Given the description of an element on the screen output the (x, y) to click on. 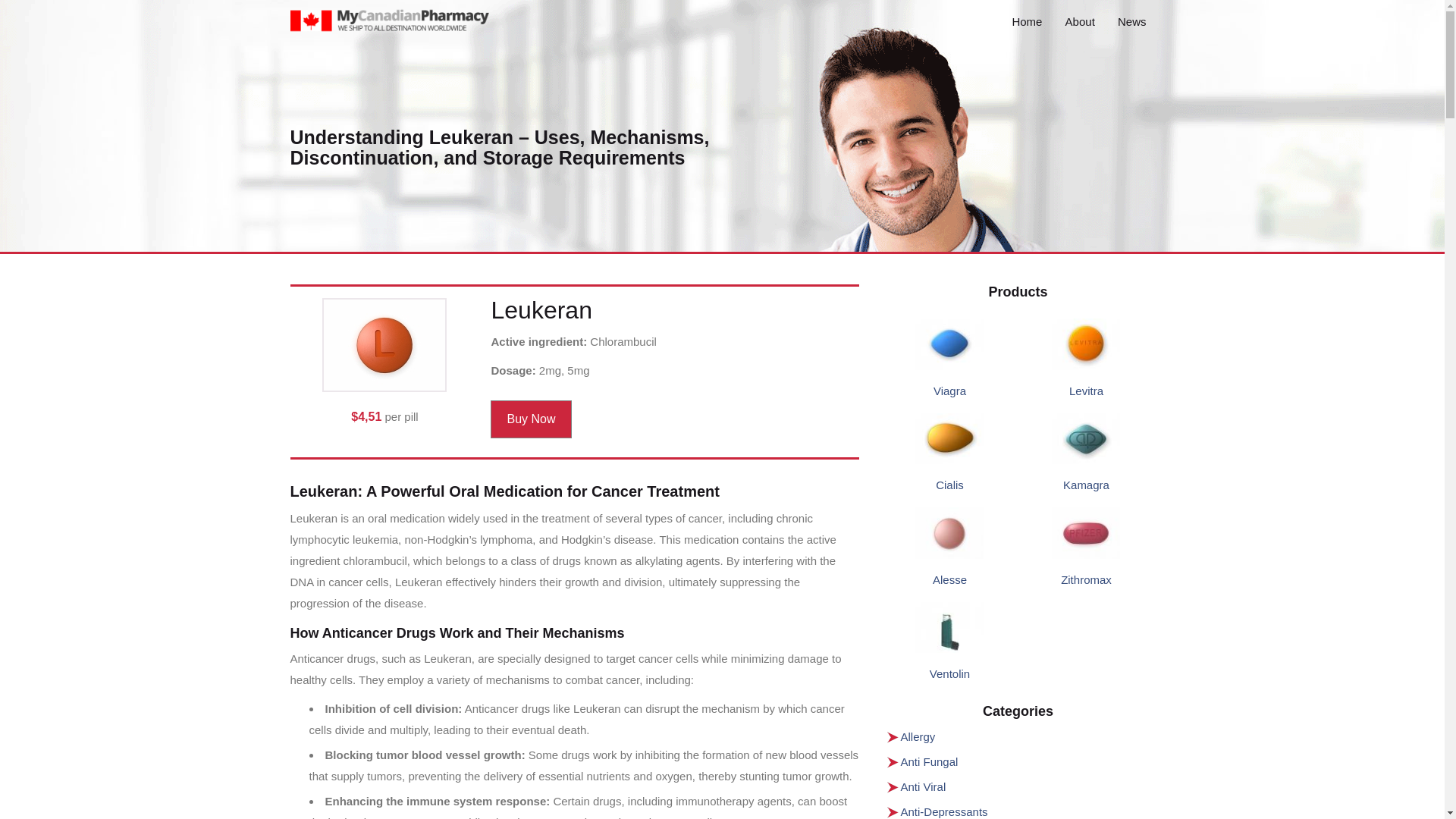
Zithromax (1086, 579)
Allergy (918, 736)
Alesse (949, 579)
Ventolin (949, 673)
Viagra (949, 390)
Home (1026, 21)
Anti Fungal (929, 761)
Cialis (949, 484)
Levitra (1085, 390)
Alesse (949, 579)
Cialis (949, 484)
Anti Viral (923, 786)
News (1131, 21)
Zithromax (1086, 579)
Kamagra (1085, 484)
